Given the description of an element on the screen output the (x, y) to click on. 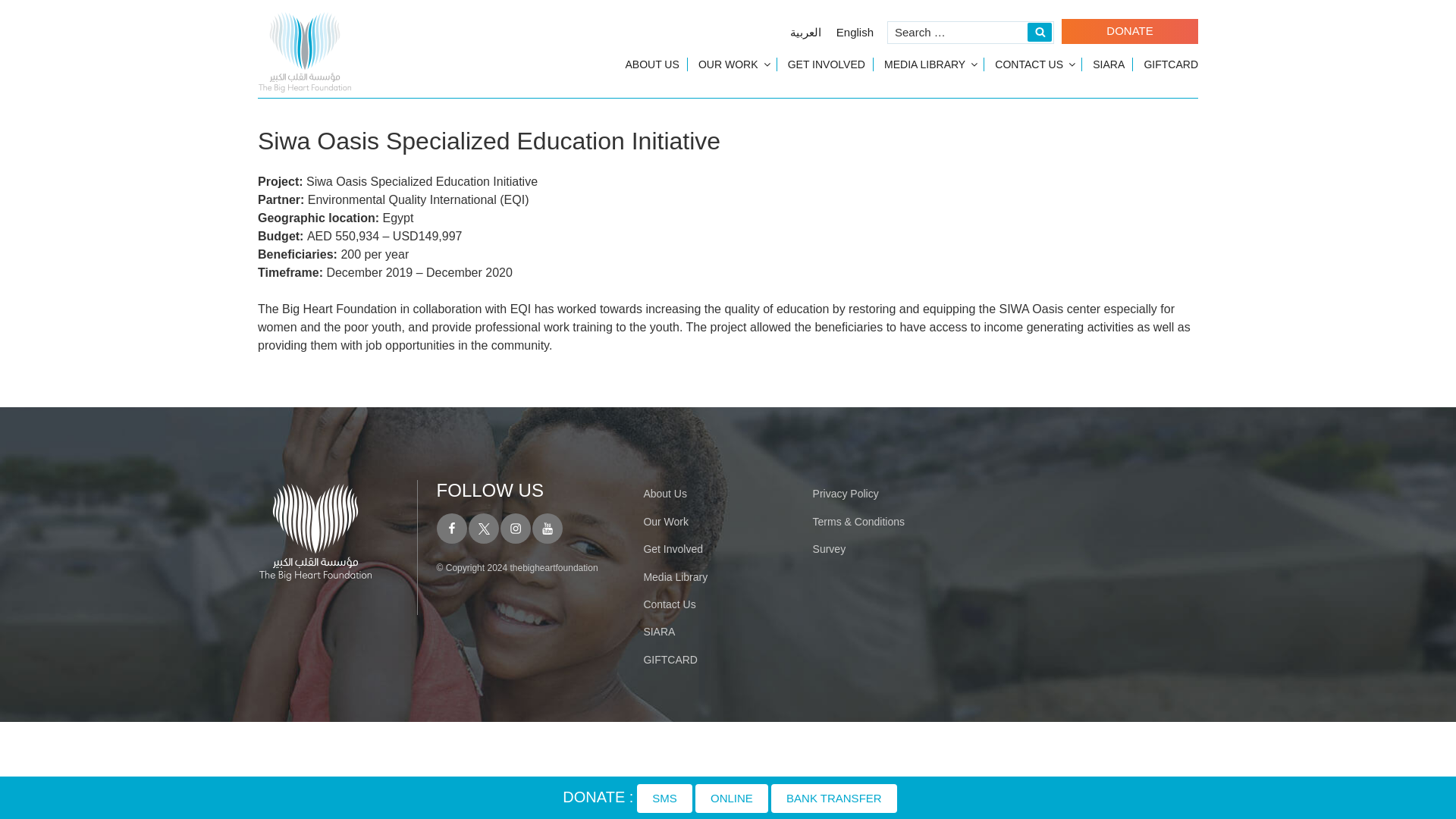
GET INVOLVED (826, 64)
ABOUT US (651, 64)
Search (1039, 31)
English (854, 31)
CONTACT US (1034, 64)
MEDIA LIBRARY (930, 64)
DONATE (1129, 31)
OUR WORK (733, 64)
